Given the description of an element on the screen output the (x, y) to click on. 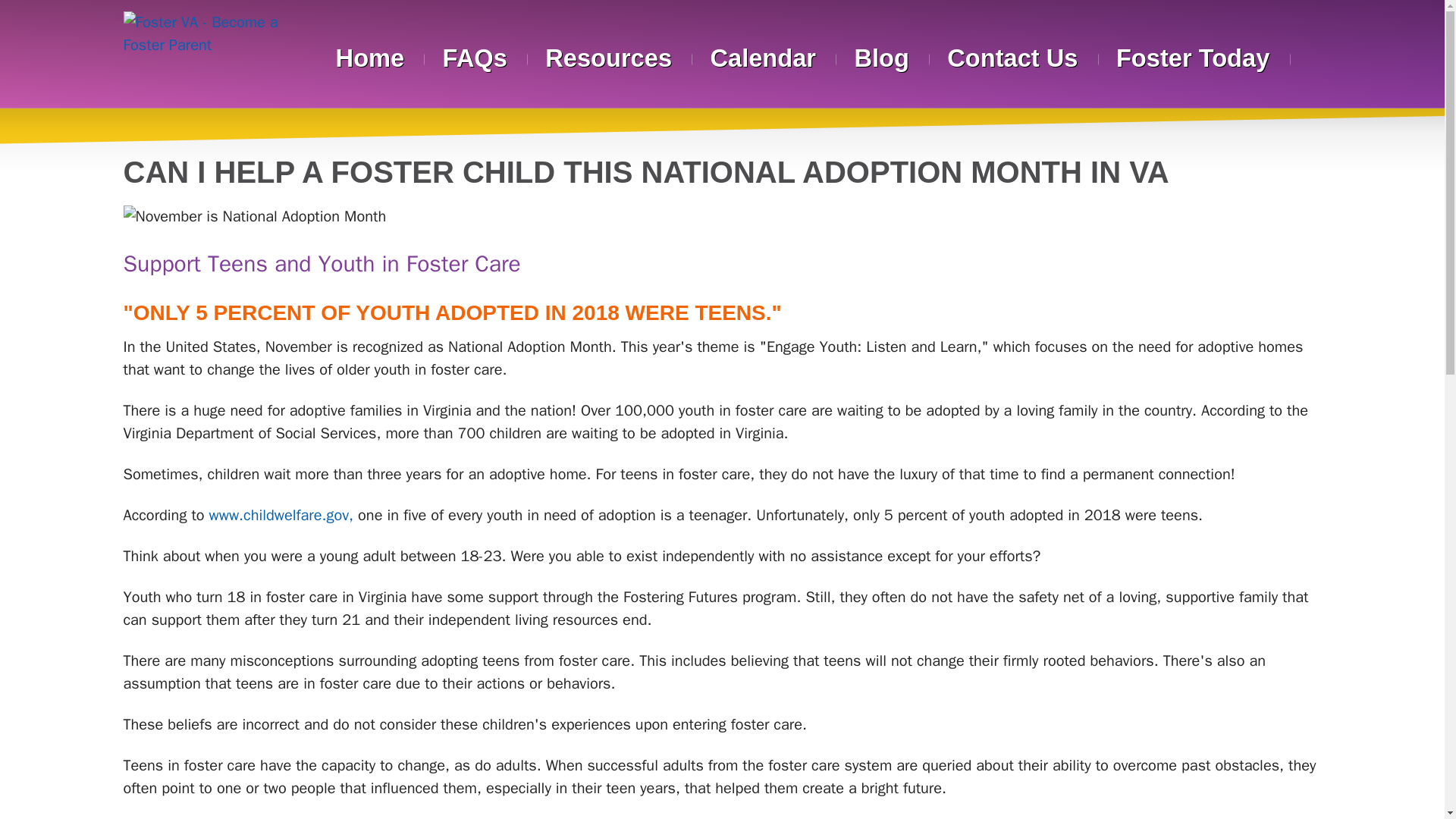
Search (1312, 56)
www.childwelfare.gov, (281, 515)
FAQs (474, 57)
Home (369, 57)
Foster Today (1193, 57)
Calendar (762, 57)
Resources (608, 57)
Blog (881, 57)
Contact Us (1013, 57)
